Given the description of an element on the screen output the (x, y) to click on. 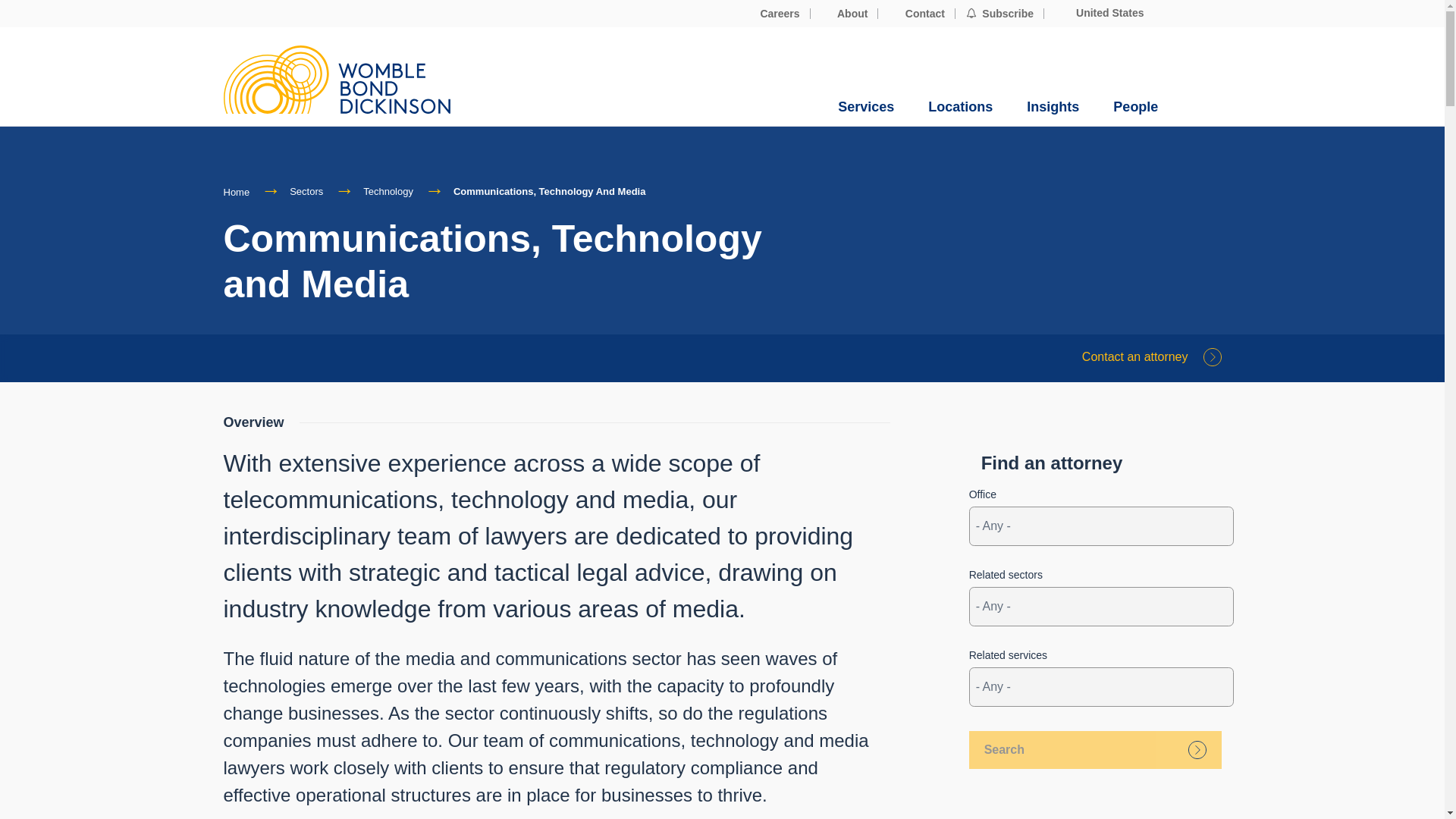
Contact (916, 13)
Search (1095, 750)
About (844, 13)
United States (1098, 13)
Careers (771, 13)
Services (865, 107)
Locations (960, 107)
